Given the description of an element on the screen output the (x, y) to click on. 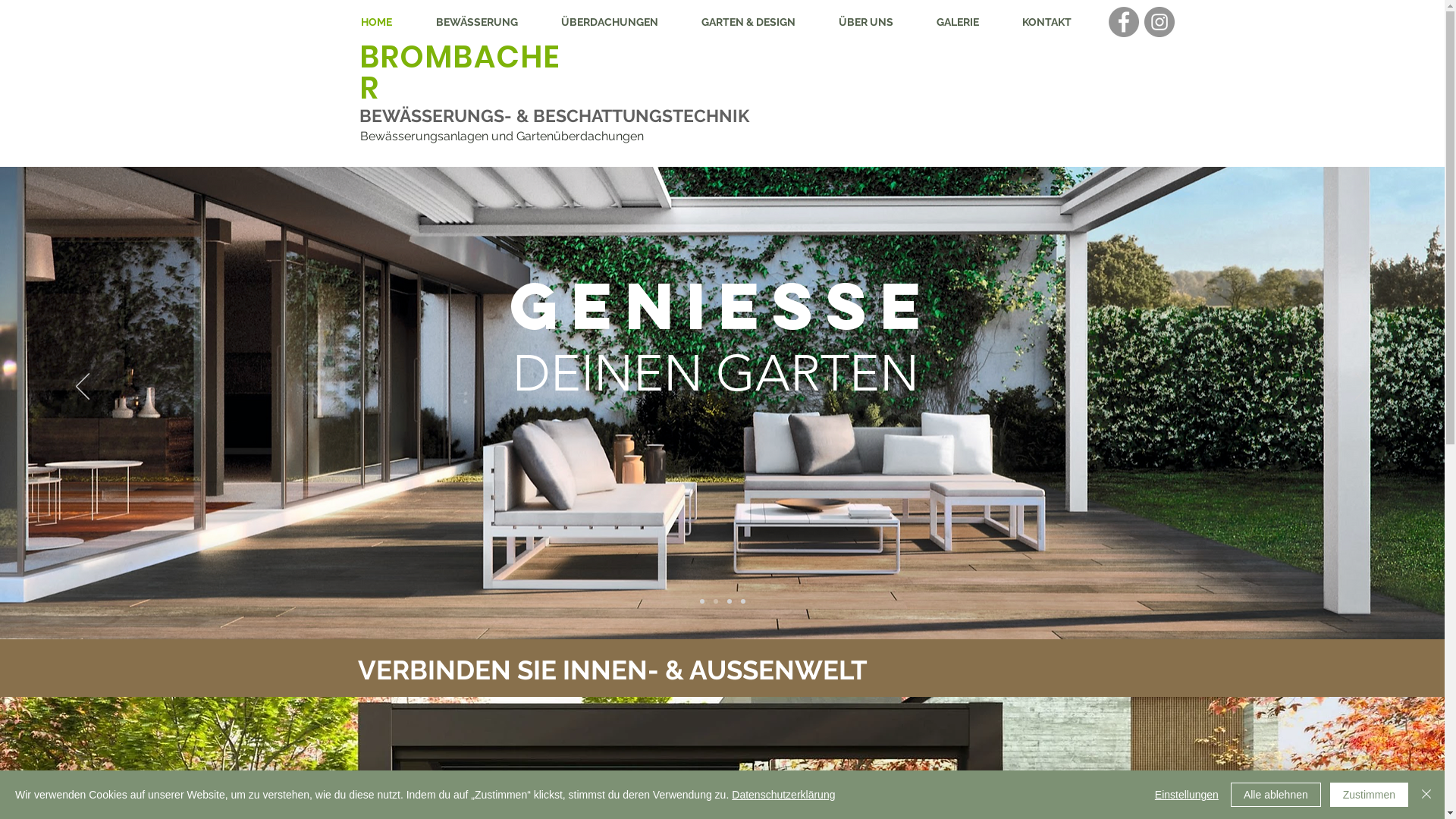
KONTAKT Element type: text (1047, 21)
HOME Element type: text (375, 21)
GALERIE Element type: text (957, 21)
Alle ablehnen Element type: text (1275, 794)
BROMBACHER Element type: text (460, 72)
Zustimmen Element type: text (1369, 794)
GARTEN & DESIGN Element type: text (747, 21)
